Given the description of an element on the screen output the (x, y) to click on. 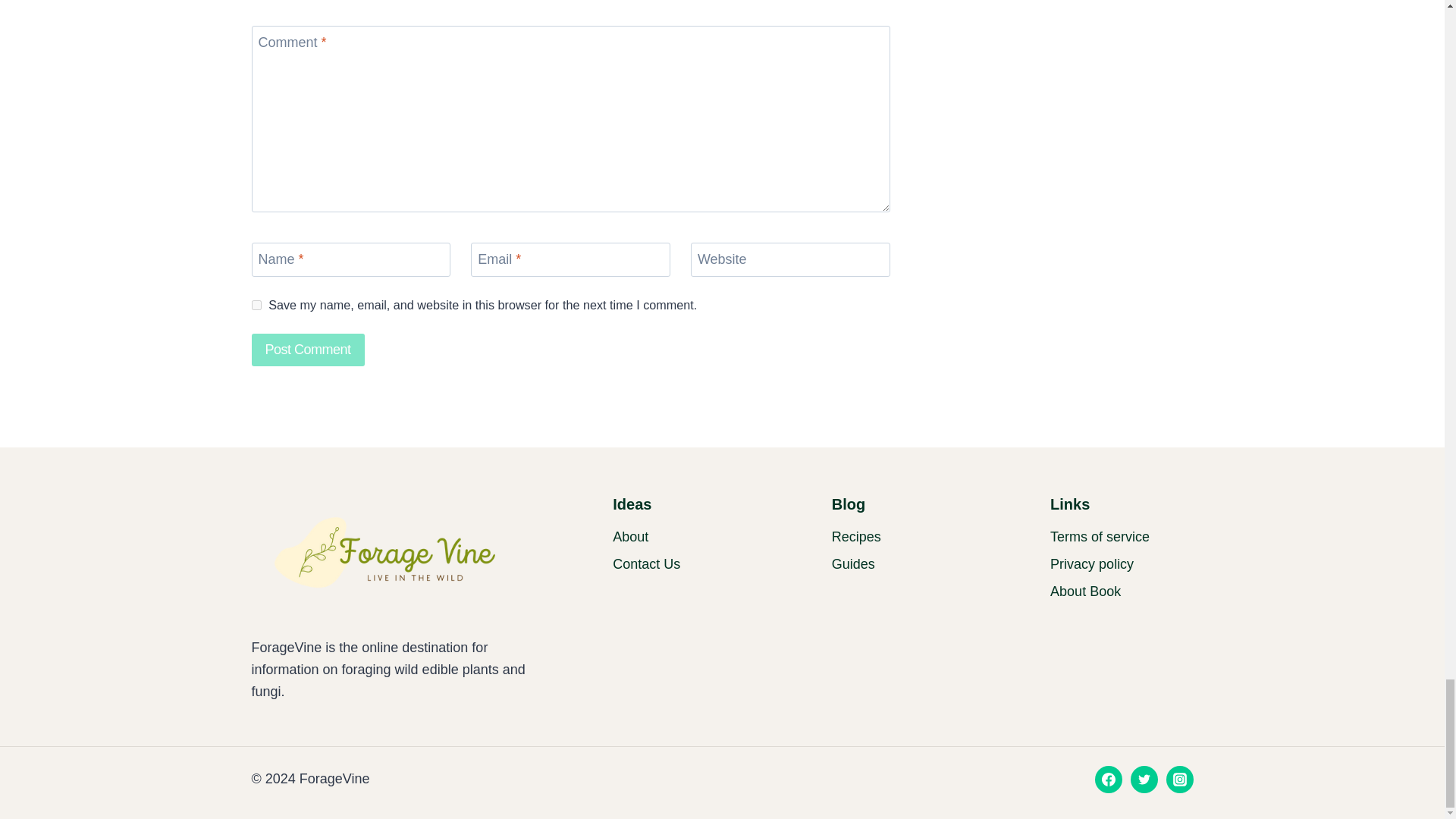
Post Comment (308, 349)
yes (256, 305)
